Given the description of an element on the screen output the (x, y) to click on. 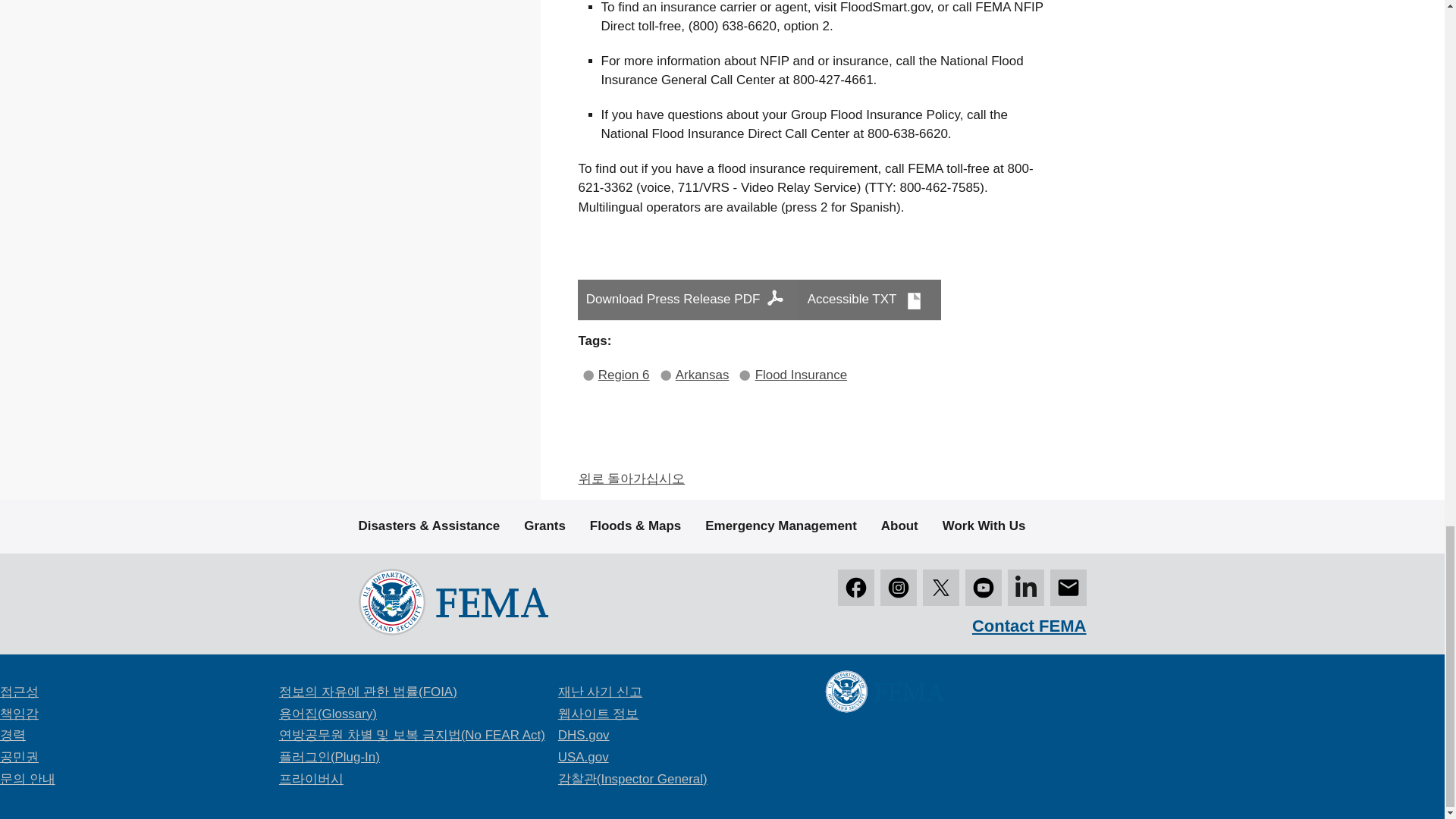
Region 6 (623, 375)
Flood Insurance (801, 375)
Arkansas (702, 375)
Accessible TXT (868, 300)
Download Press Release PDF (688, 300)
FEMA logo (452, 601)
